Given the description of an element on the screen output the (x, y) to click on. 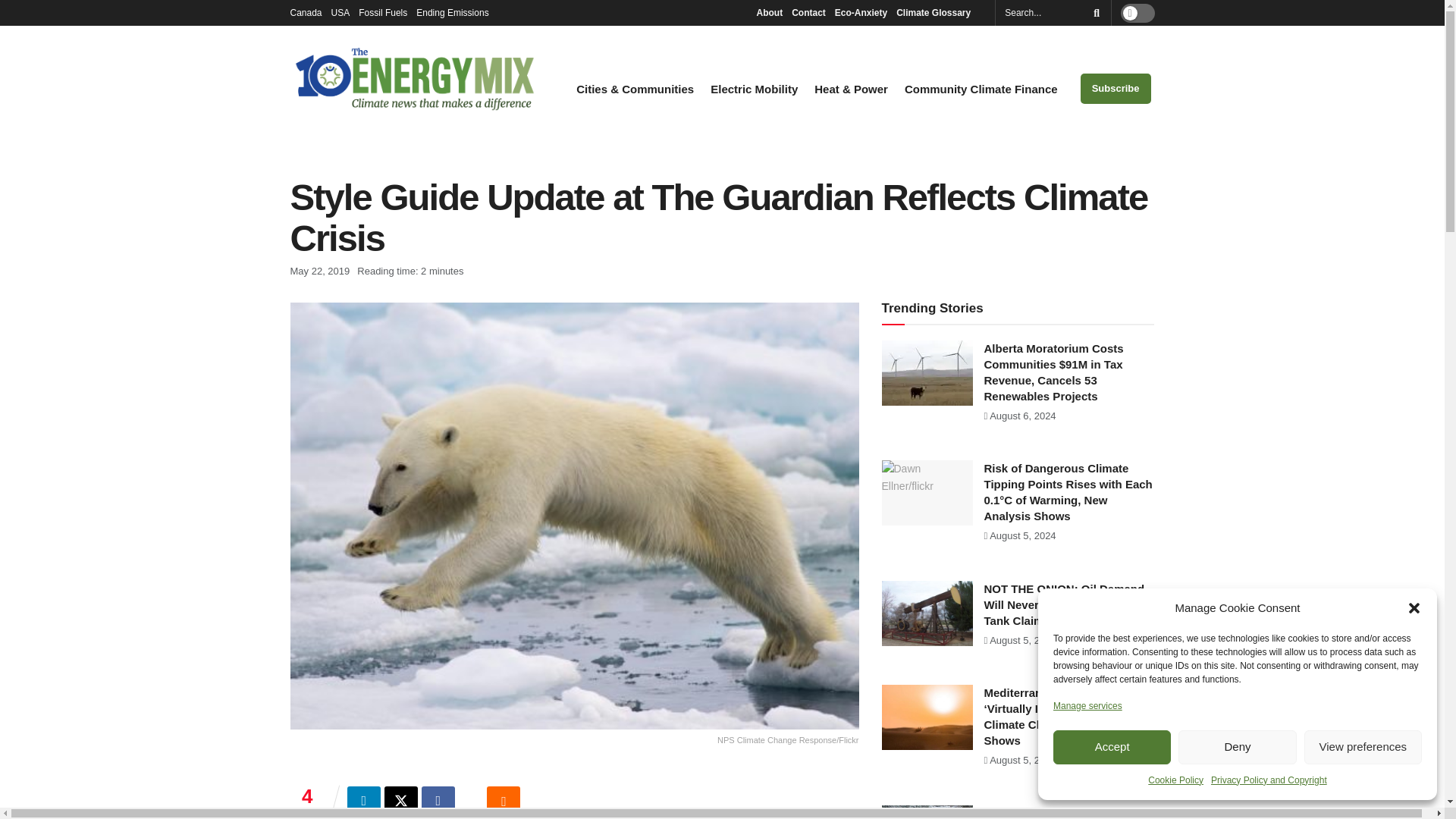
Manage services (1087, 705)
Eco-Anxiety (860, 12)
Deny (1236, 747)
Community Climate Finance (981, 89)
Climate Glossary (937, 12)
About (769, 12)
Fossil Fuels (382, 12)
Ending Emissions (456, 12)
Accept (1111, 747)
Contact (808, 12)
